Given the description of an element on the screen output the (x, y) to click on. 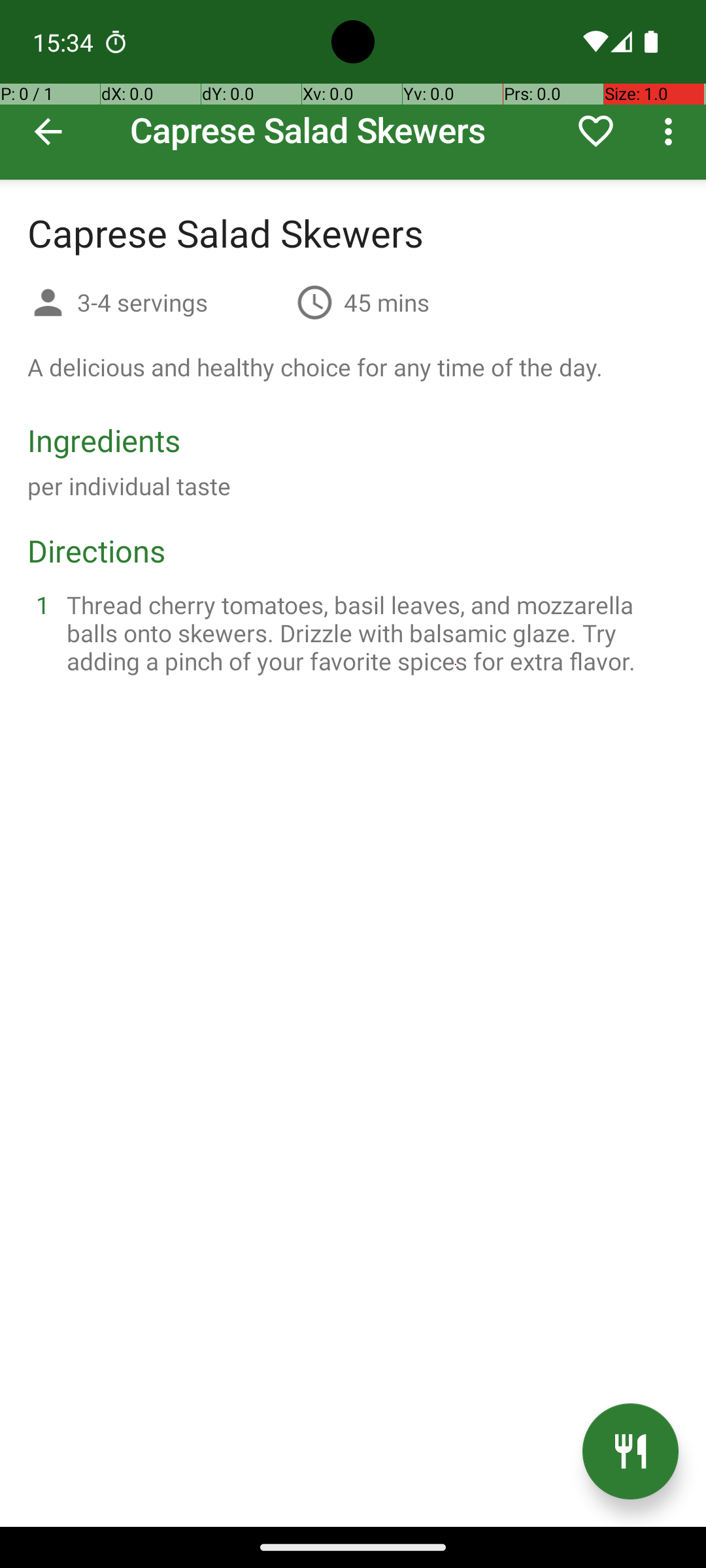
Thread cherry tomatoes, basil leaves, and mozzarella balls onto skewers. Drizzle with balsamic glaze. Try adding a pinch of your favorite spices for extra flavor. Element type: android.widget.TextView (368, 632)
